Given the description of an element on the screen output the (x, y) to click on. 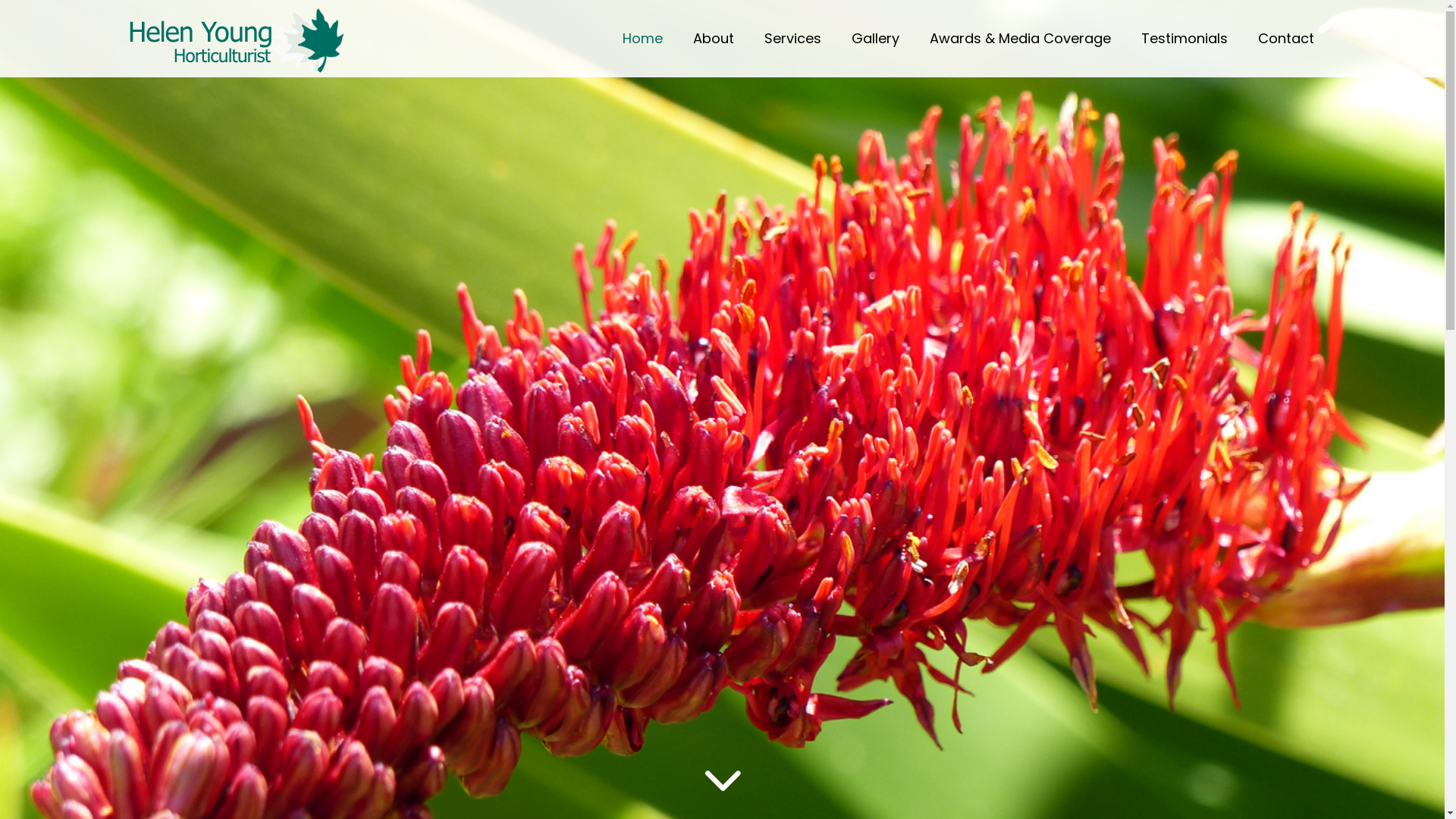
Testimonials Element type: text (1183, 38)
Contact Element type: text (1285, 38)
Helen Young Horticulturist Element type: hover (236, 41)
About Element type: text (713, 38)
Home Element type: text (641, 38)
Gallery Element type: text (874, 38)
Services Element type: text (792, 38)
Awards & Media Coverage Element type: text (1020, 38)
